Given the description of an element on the screen output the (x, y) to click on. 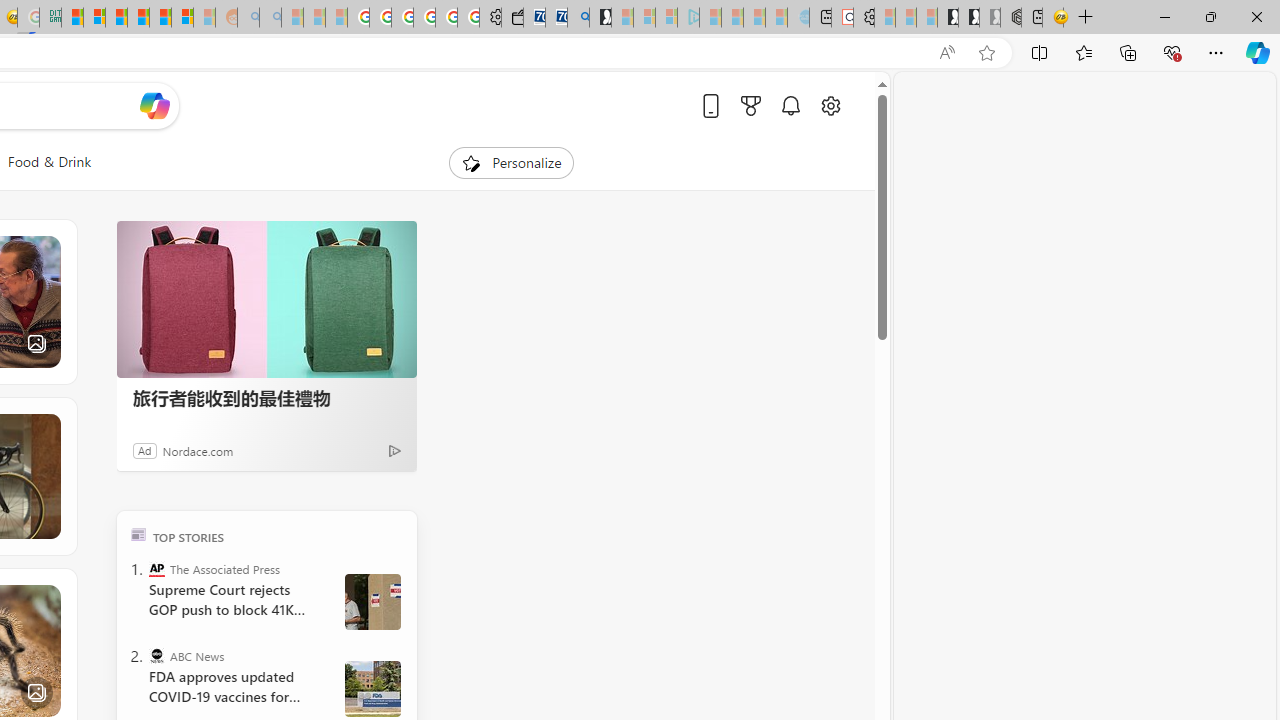
Bing Real Estate - Home sales and rental listings (578, 17)
